Given the description of an element on the screen output the (x, y) to click on. 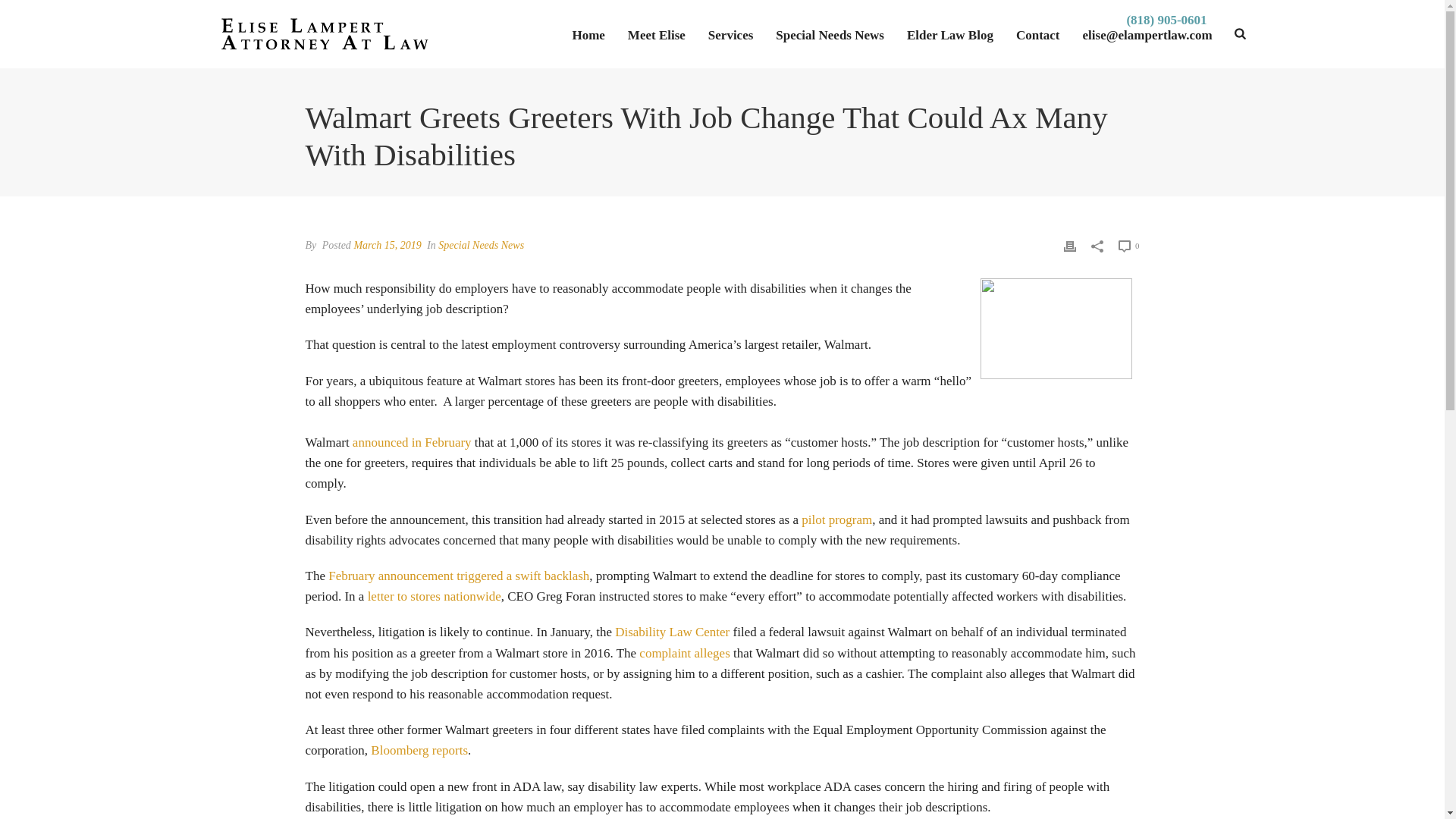
Special Needs News (481, 244)
pilot program (837, 519)
Special Needs News (829, 33)
Contact (1037, 33)
Meet Elise (656, 33)
Bloomberg reports (419, 749)
Elder Law Blog (949, 33)
February announcement triggered a swift backlash (459, 575)
0 (1128, 245)
announced in February (411, 441)
letter to stores nationwide (434, 595)
Special Needs News (829, 33)
March 15, 2019 (386, 244)
Services (730, 33)
Elder Law Blog (949, 33)
